Given the description of an element on the screen output the (x, y) to click on. 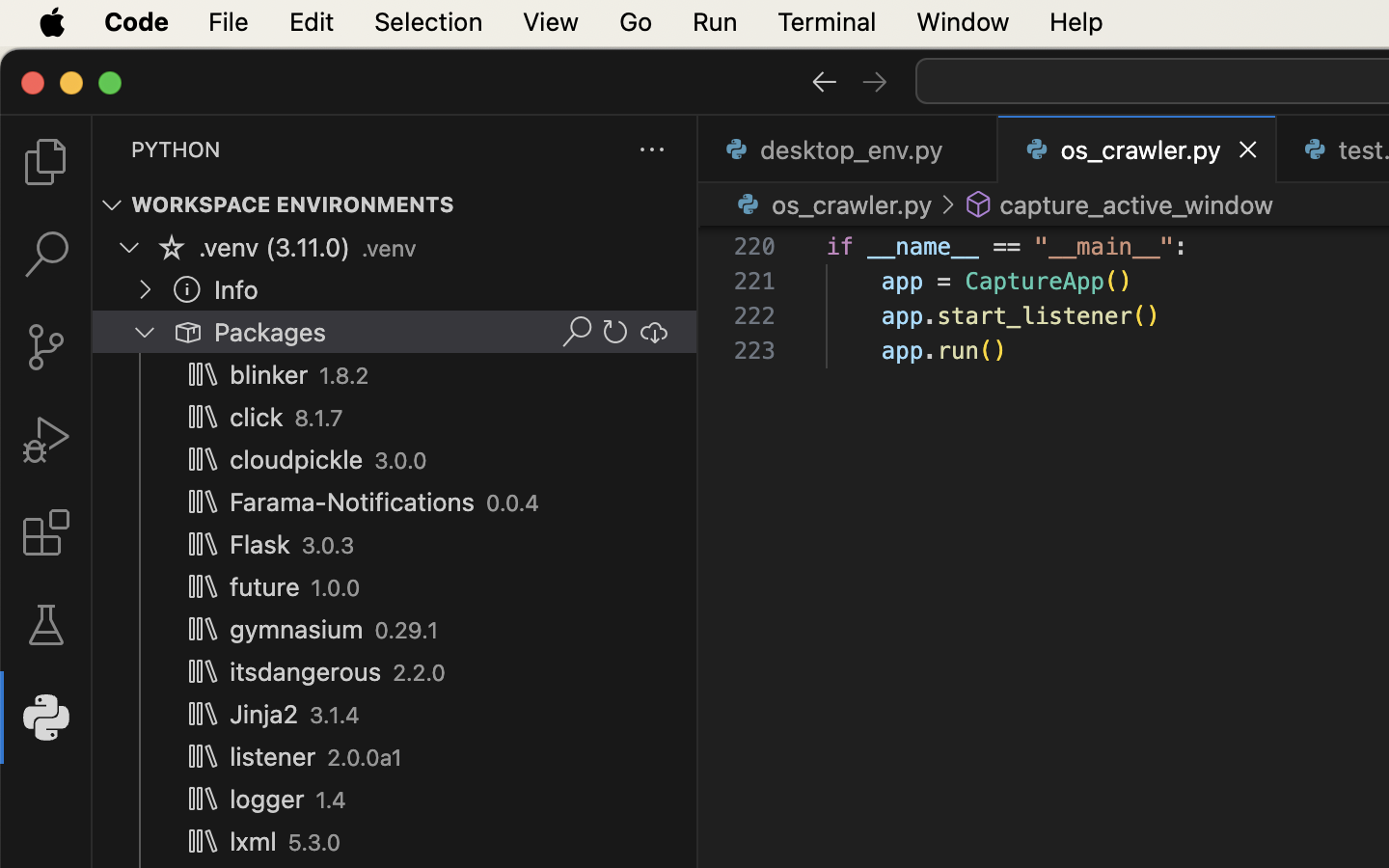
1 os_crawler.py   Element type: AXRadioButton (1138, 149)
 Element type: AXButton (615, 331)
 Element type: AXGroup (46, 439)
 Element type: AXStaticText (202, 501)
 Element type: AXStaticText (947, 204)
